Given the description of an element on the screen output the (x, y) to click on. 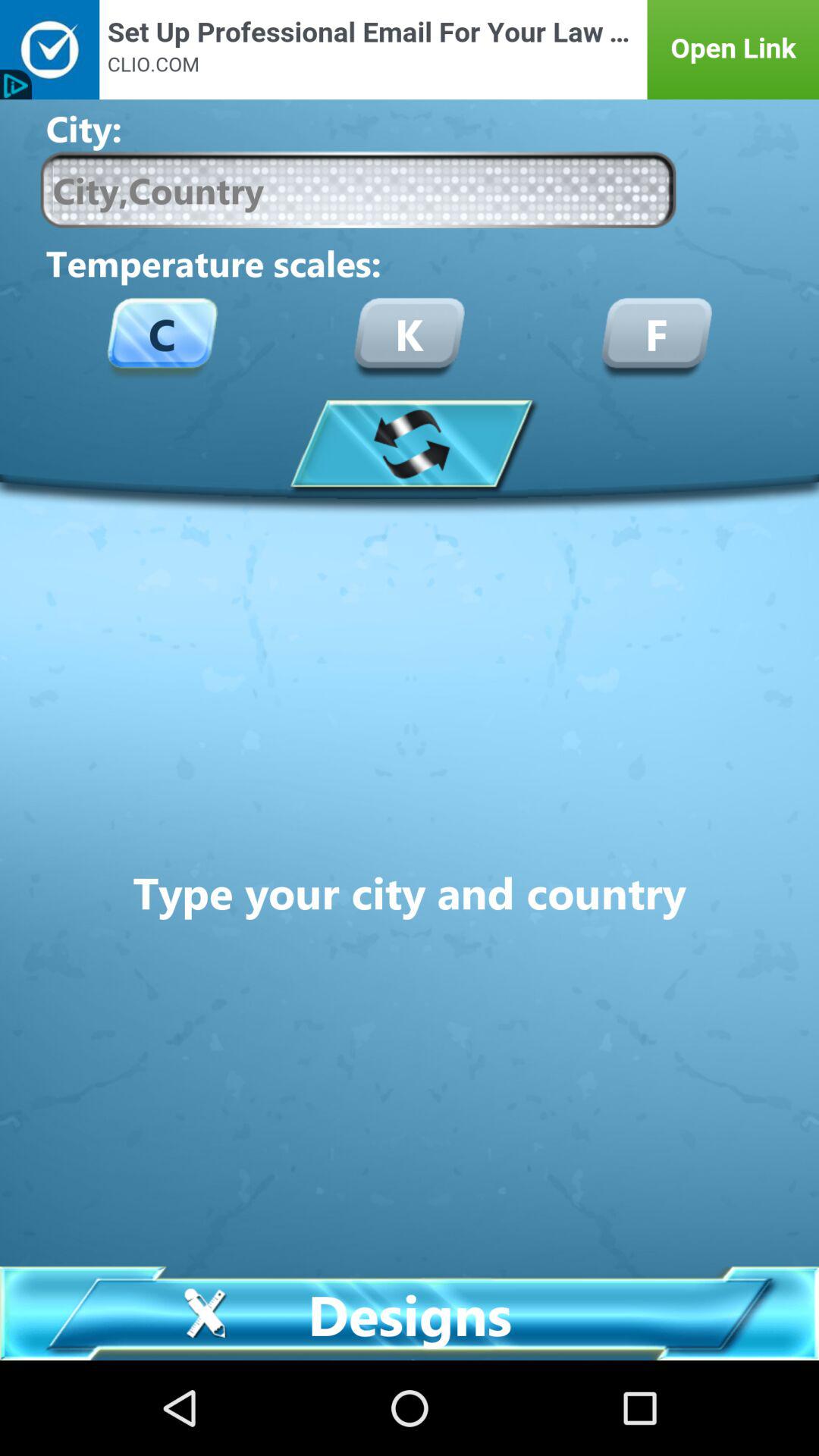
go to search (357, 189)
